Given the description of an element on the screen output the (x, y) to click on. 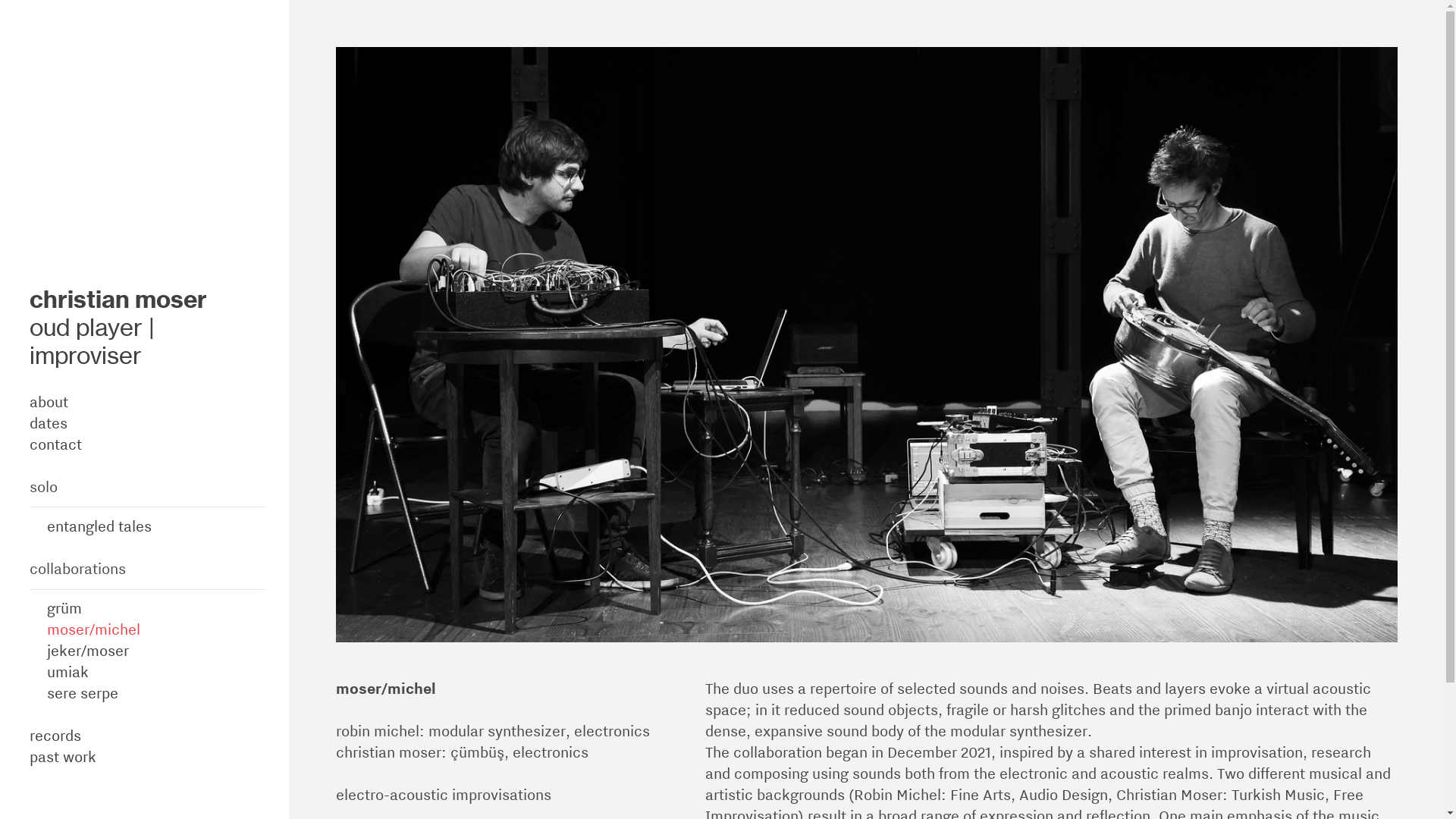
dates Element type: text (48, 423)
jeker/moser Element type: text (87, 650)
contact Element type: text (55, 444)
entangled tales Element type: text (99, 526)
sere serpe Element type: text (82, 693)
records Element type: text (55, 735)
about Element type: text (48, 401)
moser/michel Element type: text (93, 629)
christian moser
oud player | improviser Element type: text (118, 327)
past work Element type: text (62, 756)
umiak Element type: text (67, 671)
